Given the description of an element on the screen output the (x, y) to click on. 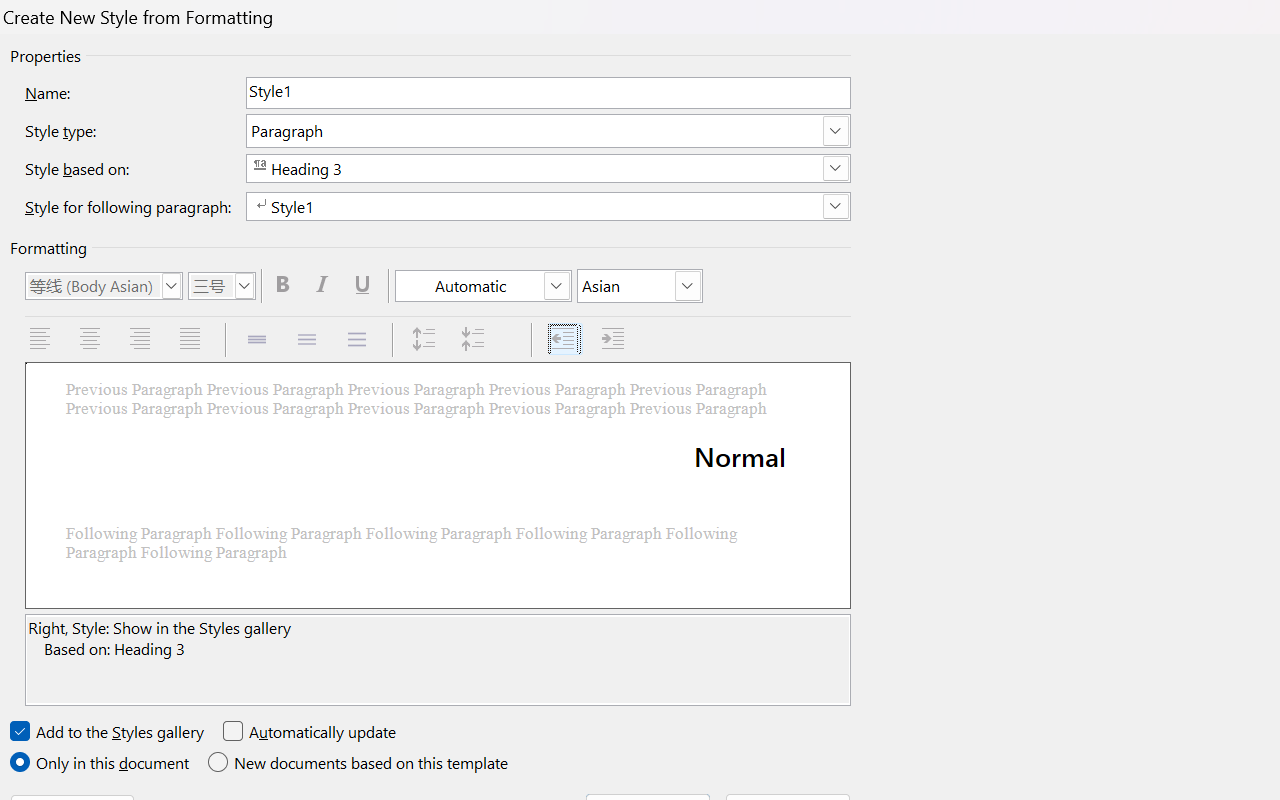
Formatting script (639, 285)
Automatically update (310, 731)
Justify (192, 339)
Align Left (42, 339)
Style for following paragraph: (548, 206)
Align Right (142, 339)
Style based on: (548, 168)
Bold (285, 285)
Add to the Styles gallery (108, 731)
Center (92, 339)
1.5 Spacing (308, 339)
Italic (325, 285)
RichEdit Control (548, 92)
